Given the description of an element on the screen output the (x, y) to click on. 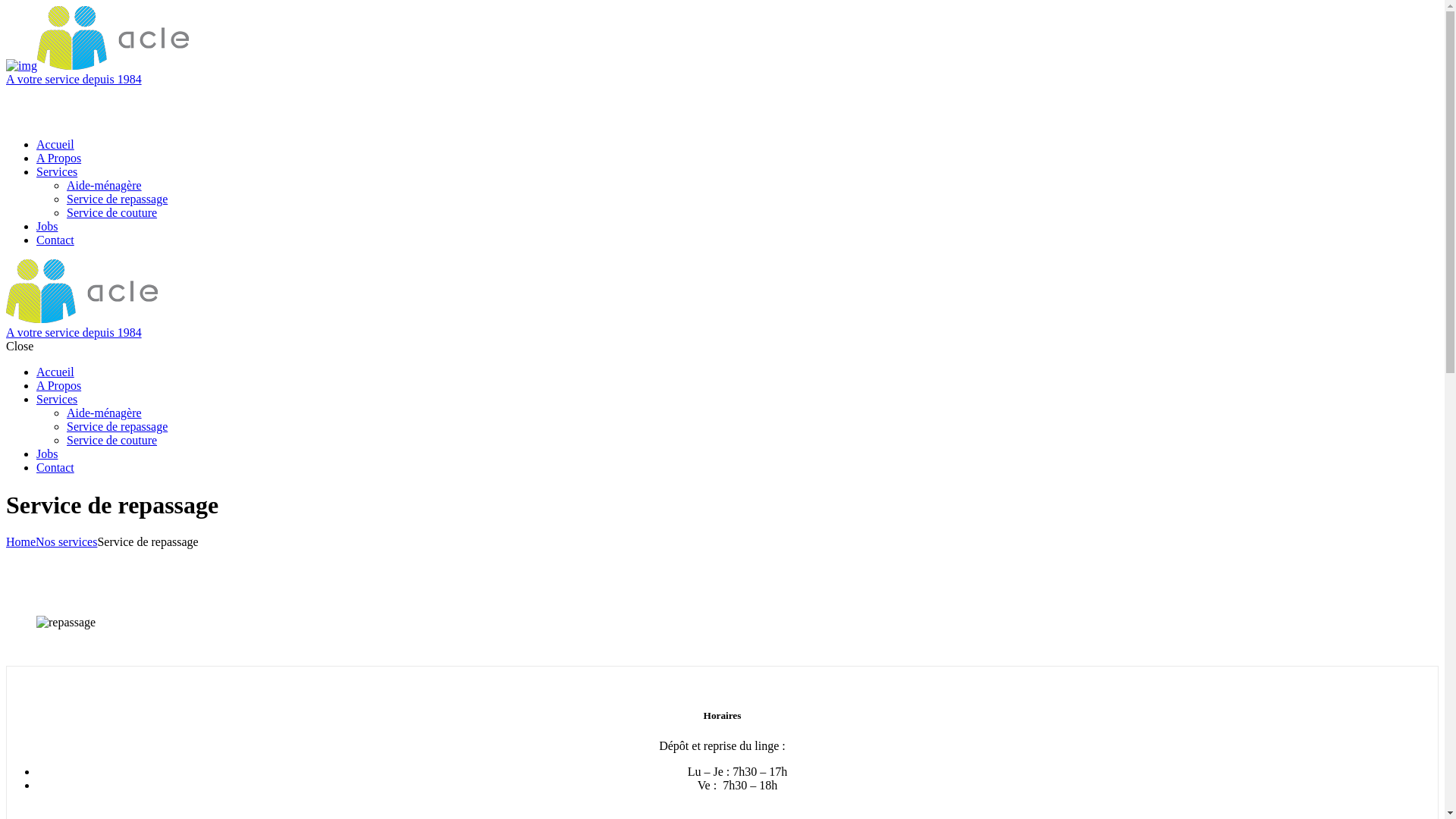
A votre service depuis 1984 Element type: text (722, 72)
Services Element type: text (56, 398)
Service de couture Element type: text (111, 439)
repassage Element type: hover (65, 622)
A votre service depuis 1984 Element type: text (722, 325)
Service de repassage Element type: text (116, 198)
Nos services Element type: text (66, 541)
Contact Element type: text (55, 239)
A Propos Element type: text (58, 157)
Home Element type: text (20, 541)
Jobs Element type: text (46, 225)
Services Element type: text (56, 171)
Service de repassage Element type: text (116, 426)
Service de couture Element type: text (111, 212)
A Propos Element type: text (58, 385)
Accueil Element type: text (55, 144)
Contact Element type: text (55, 467)
Jobs Element type: text (46, 453)
Accueil Element type: text (55, 371)
